Given the description of an element on the screen output the (x, y) to click on. 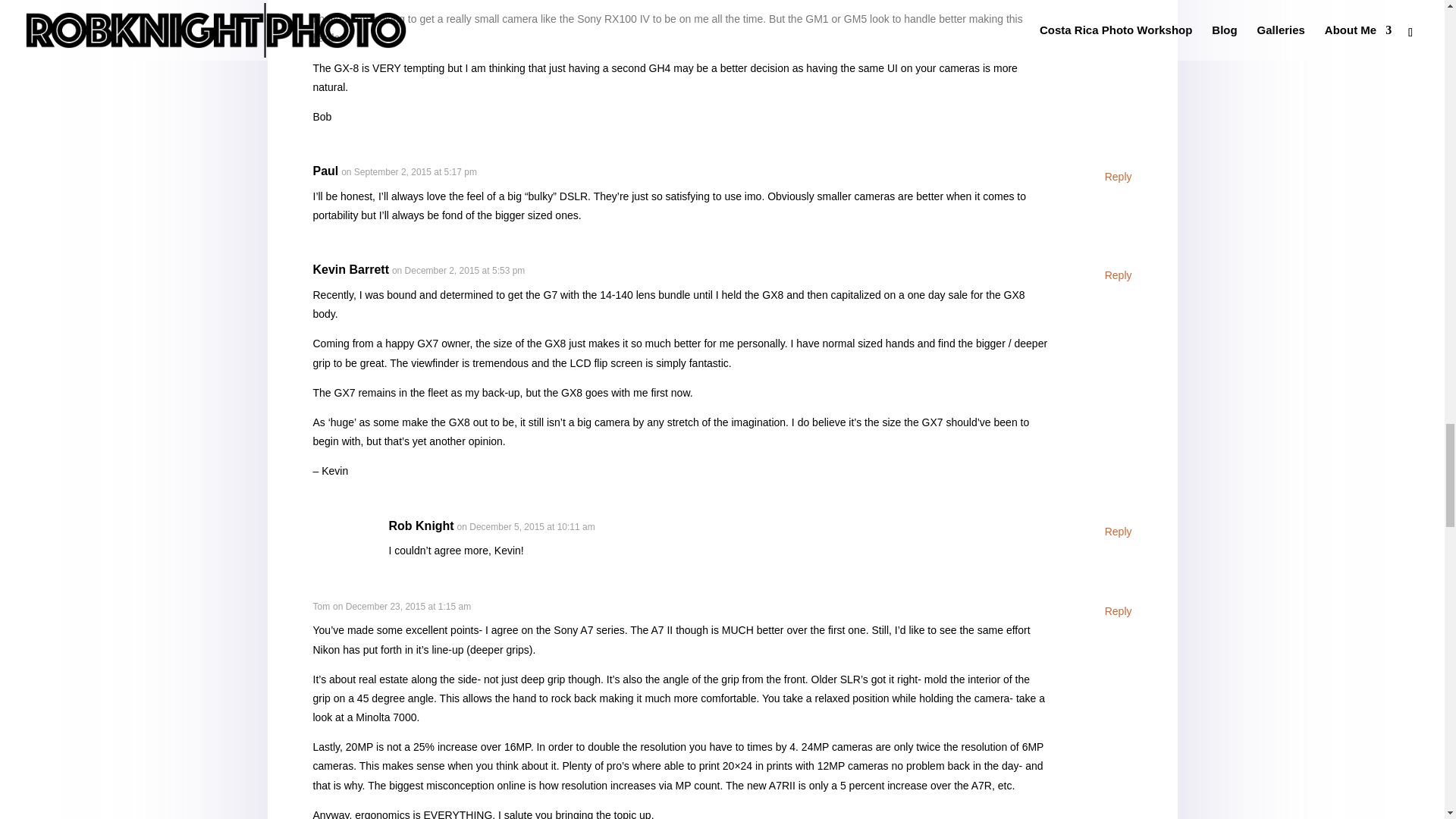
Reply (1118, 275)
Reply (1118, 177)
Rob Knight (420, 525)
Reply (1118, 532)
Reply (1118, 611)
Paul (325, 170)
Kevin Barrett (350, 269)
